Given the description of an element on the screen output the (x, y) to click on. 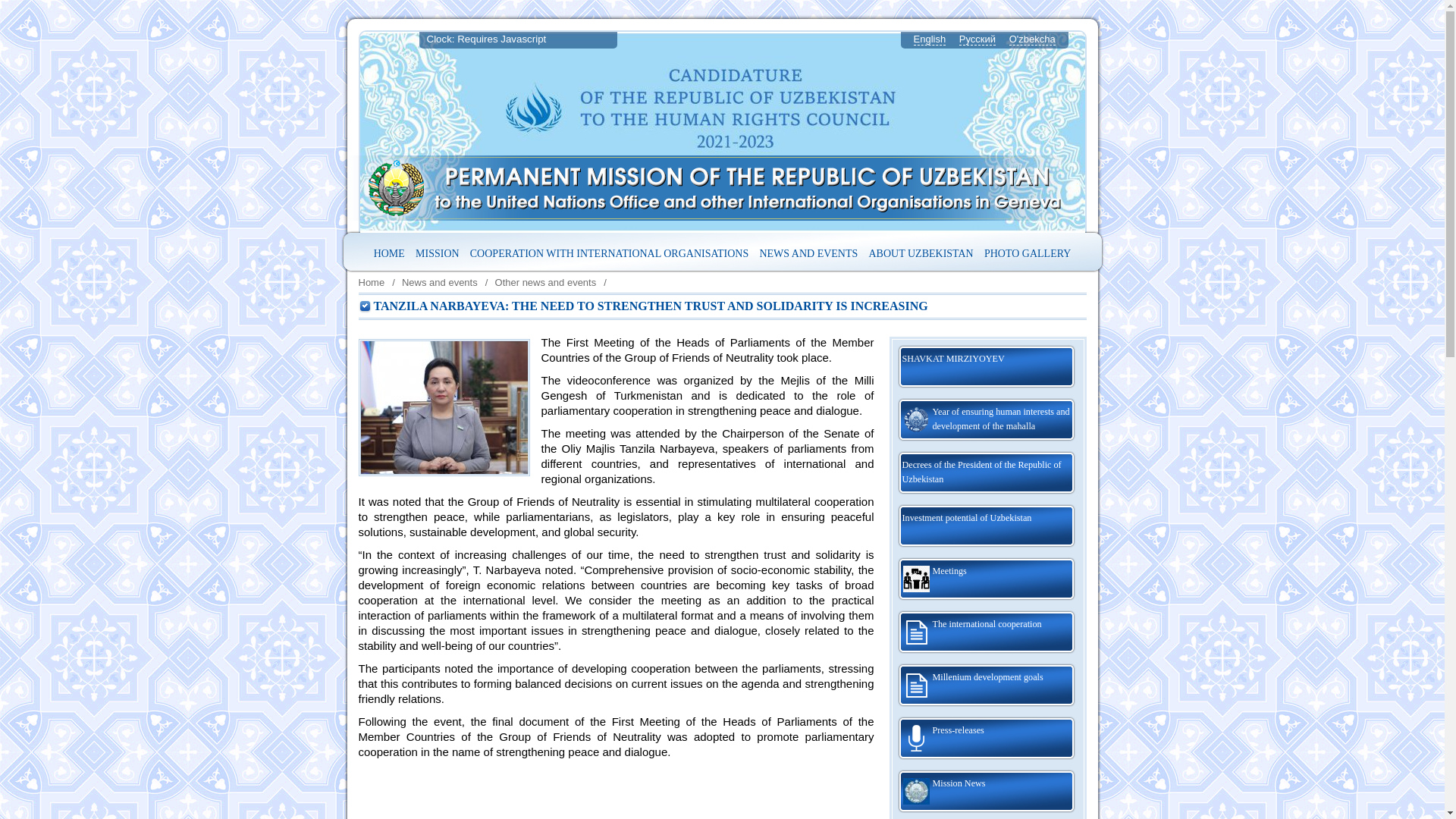
SHAVKAT MIRZIYOYEV (985, 366)
News and events (439, 282)
Mission News (985, 791)
English (928, 39)
Meetings (985, 578)
Cooperation with International Organisations (608, 253)
Photo gallery (1026, 253)
O'Zbekcha (1032, 39)
Press-releases (985, 738)
The international cooperation (985, 632)
Mission (437, 253)
Home (371, 282)
SHAVKAT MIRZIYOYEV (985, 366)
About Uzbekistan (920, 253)
